Given the description of an element on the screen output the (x, y) to click on. 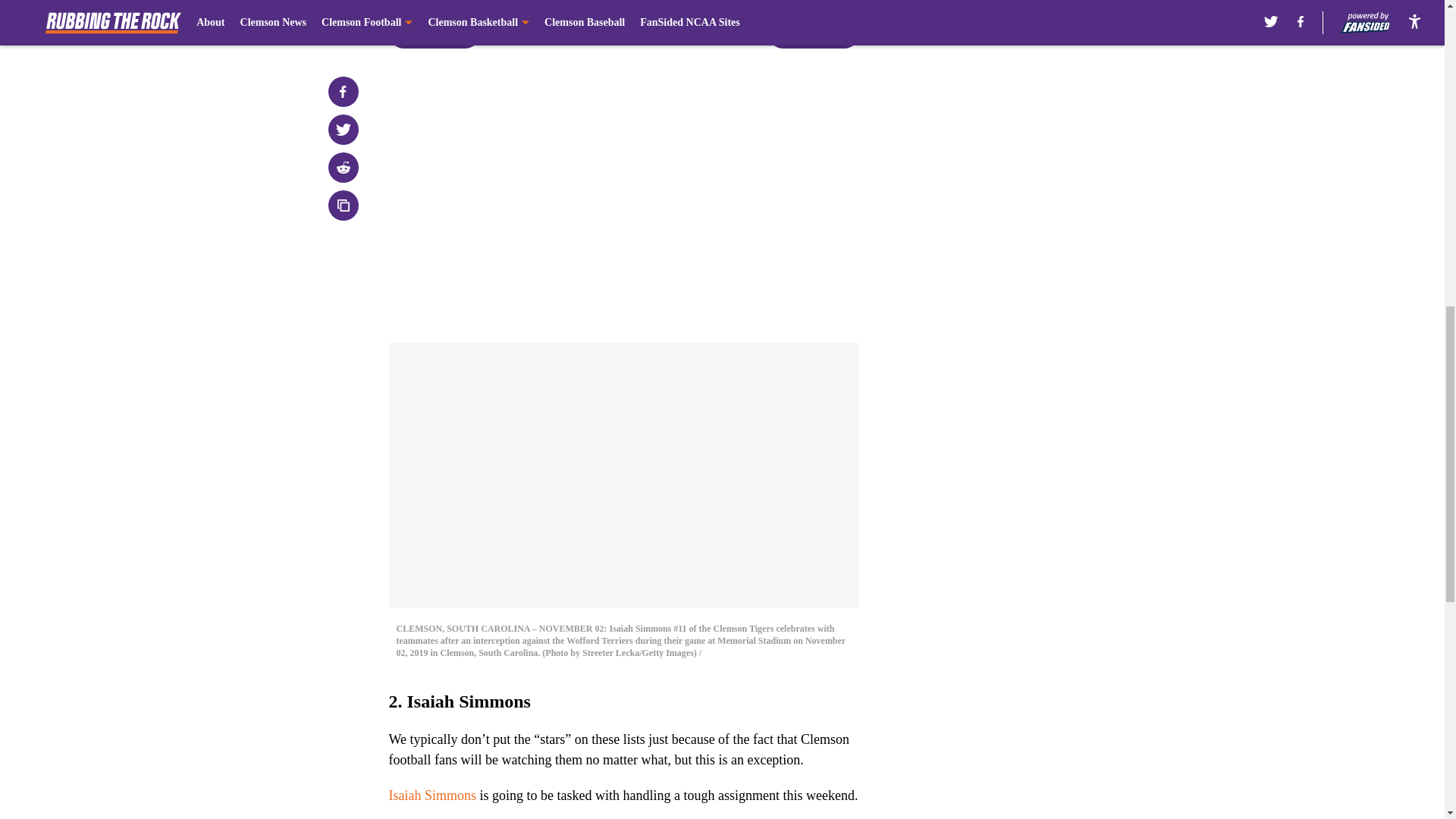
Next (813, 33)
Isaiah Simmons (432, 795)
Prev (433, 33)
